Given the description of an element on the screen output the (x, y) to click on. 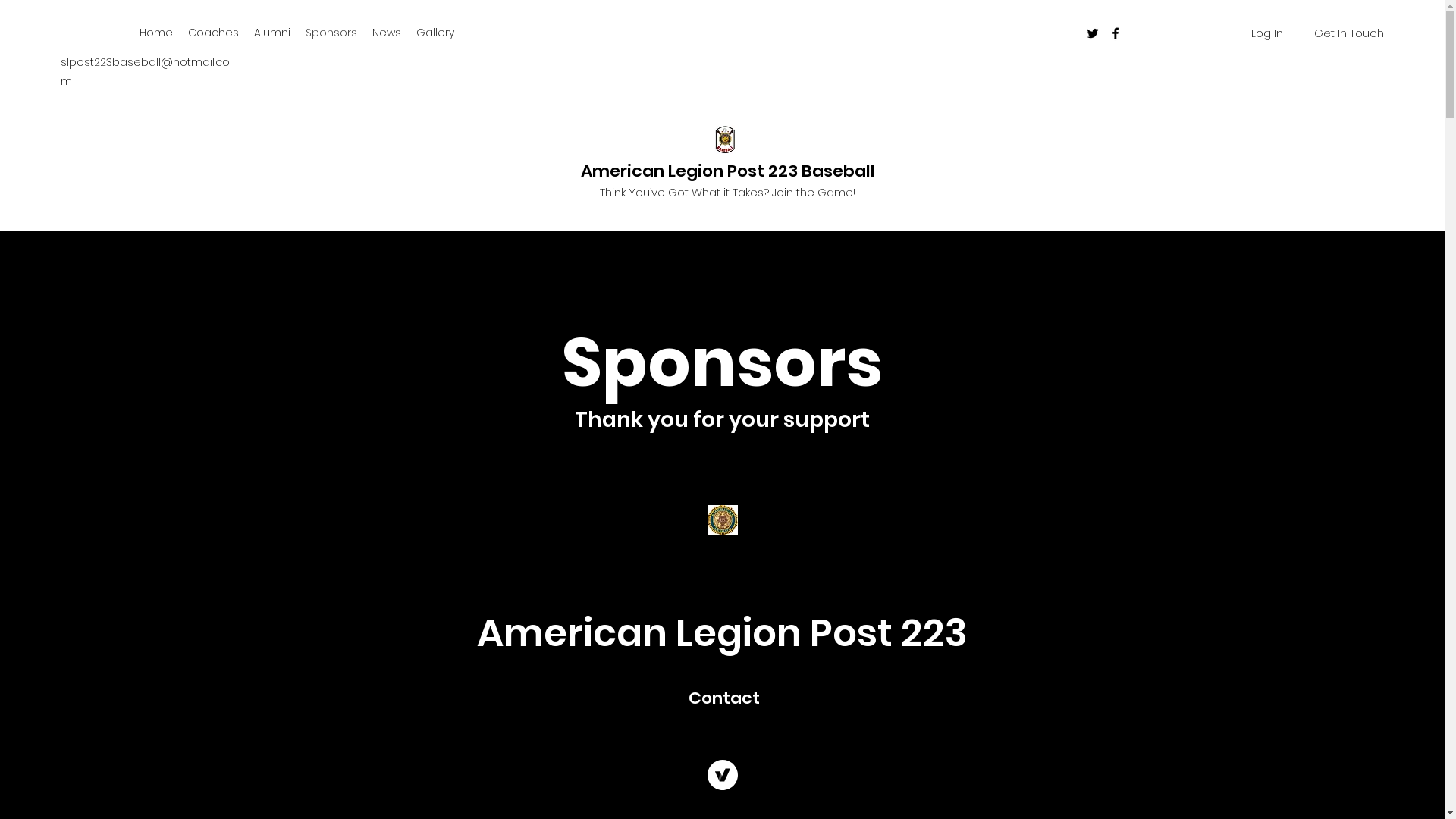
News Element type: text (386, 32)
American Legion Post 223 Baseball Element type: text (727, 170)
Get In Touch Element type: text (1348, 32)
Home Element type: text (155, 32)
Alumni Element type: text (272, 32)
Gallery Element type: text (434, 32)
Coaches Element type: text (213, 32)
slpost223baseball@hotmail.com Element type: text (144, 71)
Sponsors Element type: text (331, 32)
Contact Element type: text (723, 697)
Log In Element type: text (1266, 33)
